Given the description of an element on the screen output the (x, y) to click on. 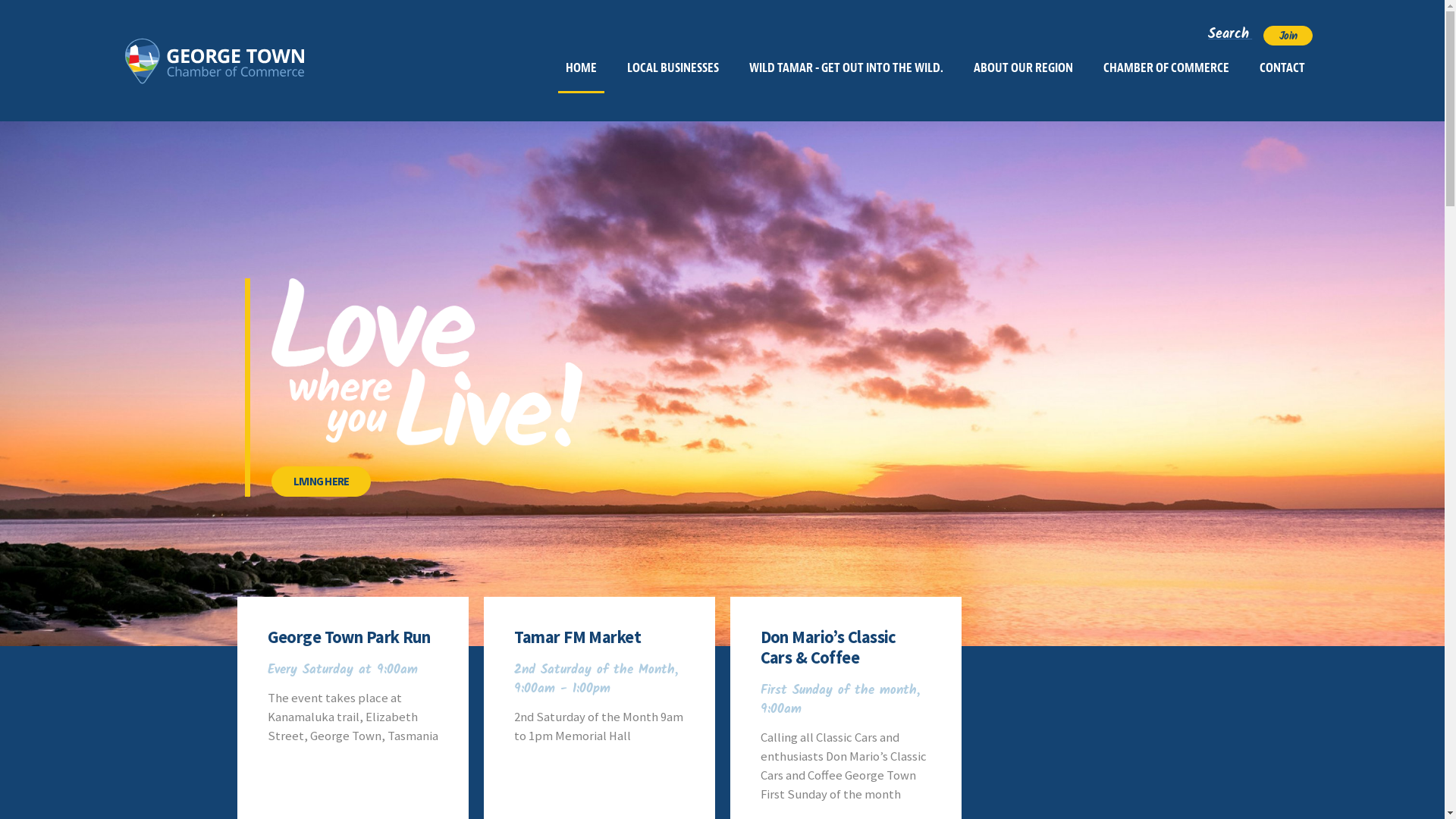
HOME Element type: text (581, 69)
CONTACT Element type: text (1282, 68)
ABOUT OUR REGION Element type: text (1023, 68)
WILD TAMAR - GET OUT INTO THE WILD. Element type: text (845, 68)
CHAMBER OF COMMERCE Element type: text (1165, 68)
Search Element type: text (1230, 32)
LIVING HERE Element type: text (321, 481)
LOCAL BUSINESSES Element type: text (672, 68)
Join Element type: text (1287, 35)
